Given the description of an element on the screen output the (x, y) to click on. 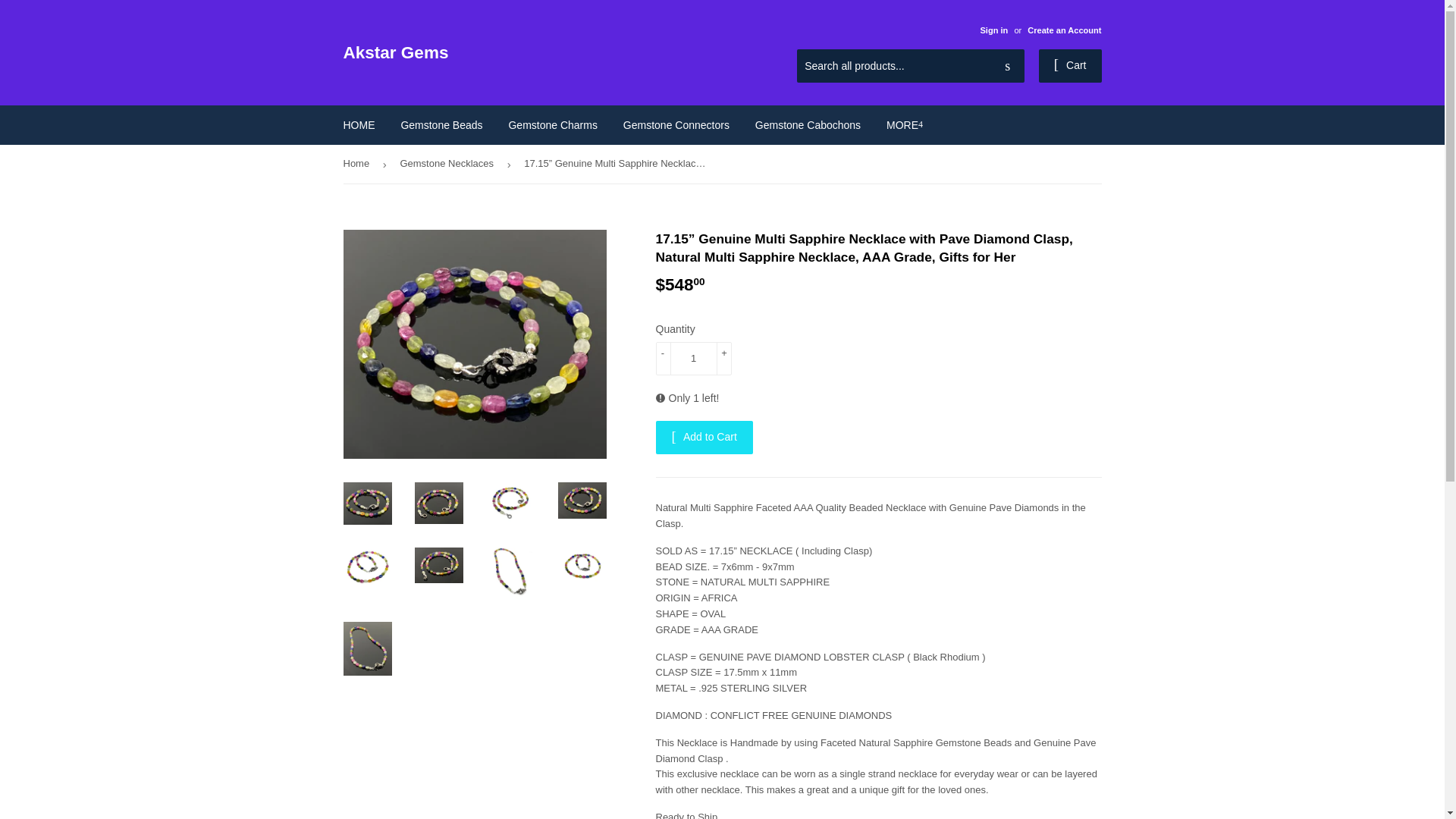
Search (1007, 66)
Gemstone Connectors (676, 124)
Back to the frontpage (358, 163)
Gemstone Charms (552, 124)
HOME (359, 124)
Akstar Gems (532, 52)
MORE (904, 124)
Sign in (993, 30)
Create an Account (1063, 30)
Gemstone Beads (440, 124)
Gemstone Cabochons (808, 124)
Cart (1070, 65)
1 (692, 358)
